Given the description of an element on the screen output the (x, y) to click on. 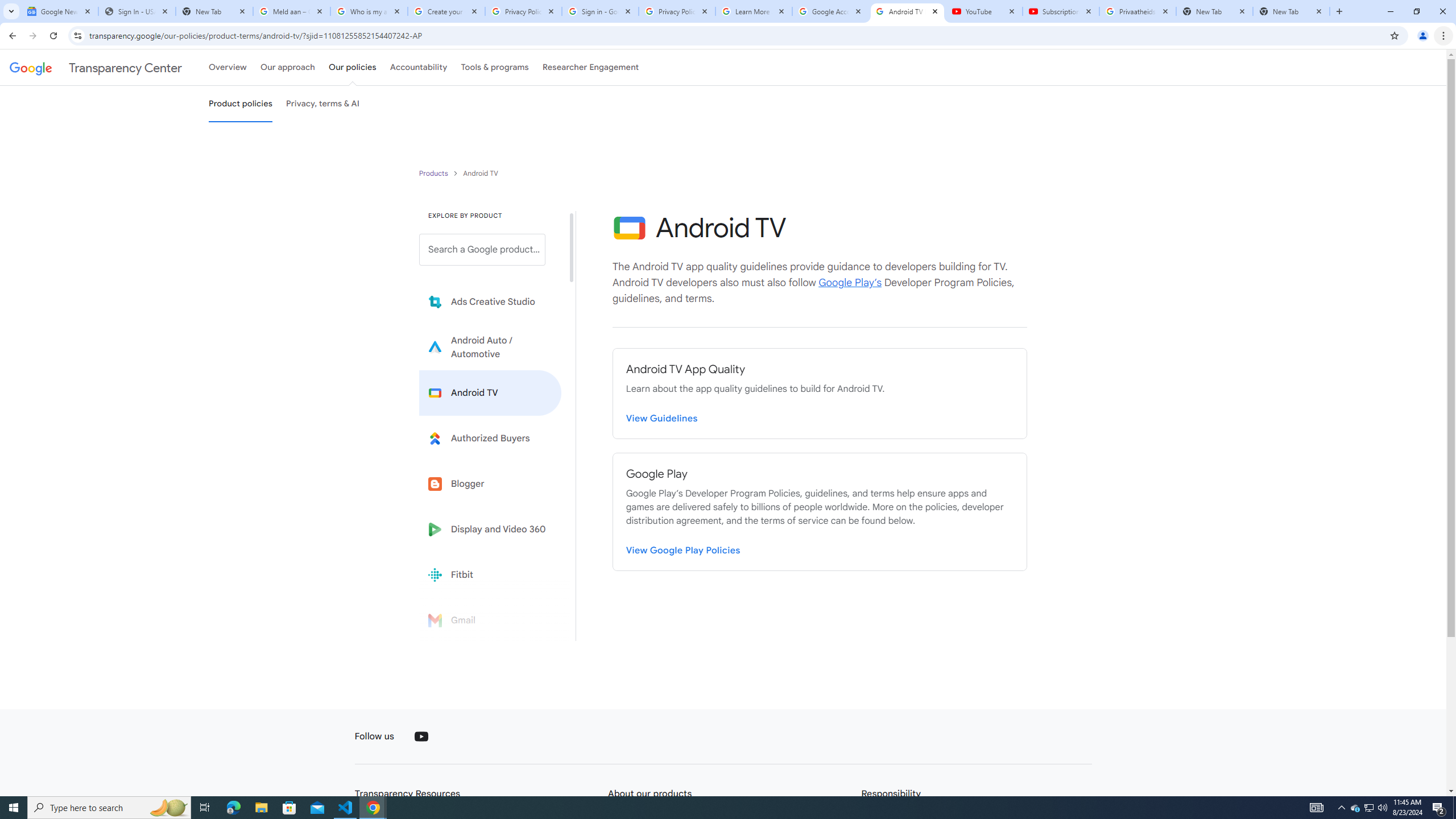
Subscriptions - YouTube (1061, 11)
Gmail (490, 619)
Learn more about Ads Creative Studio (490, 302)
Blogger (490, 483)
Learn more about Android Auto (490, 347)
Blogger (490, 483)
